Given the description of an element on the screen output the (x, y) to click on. 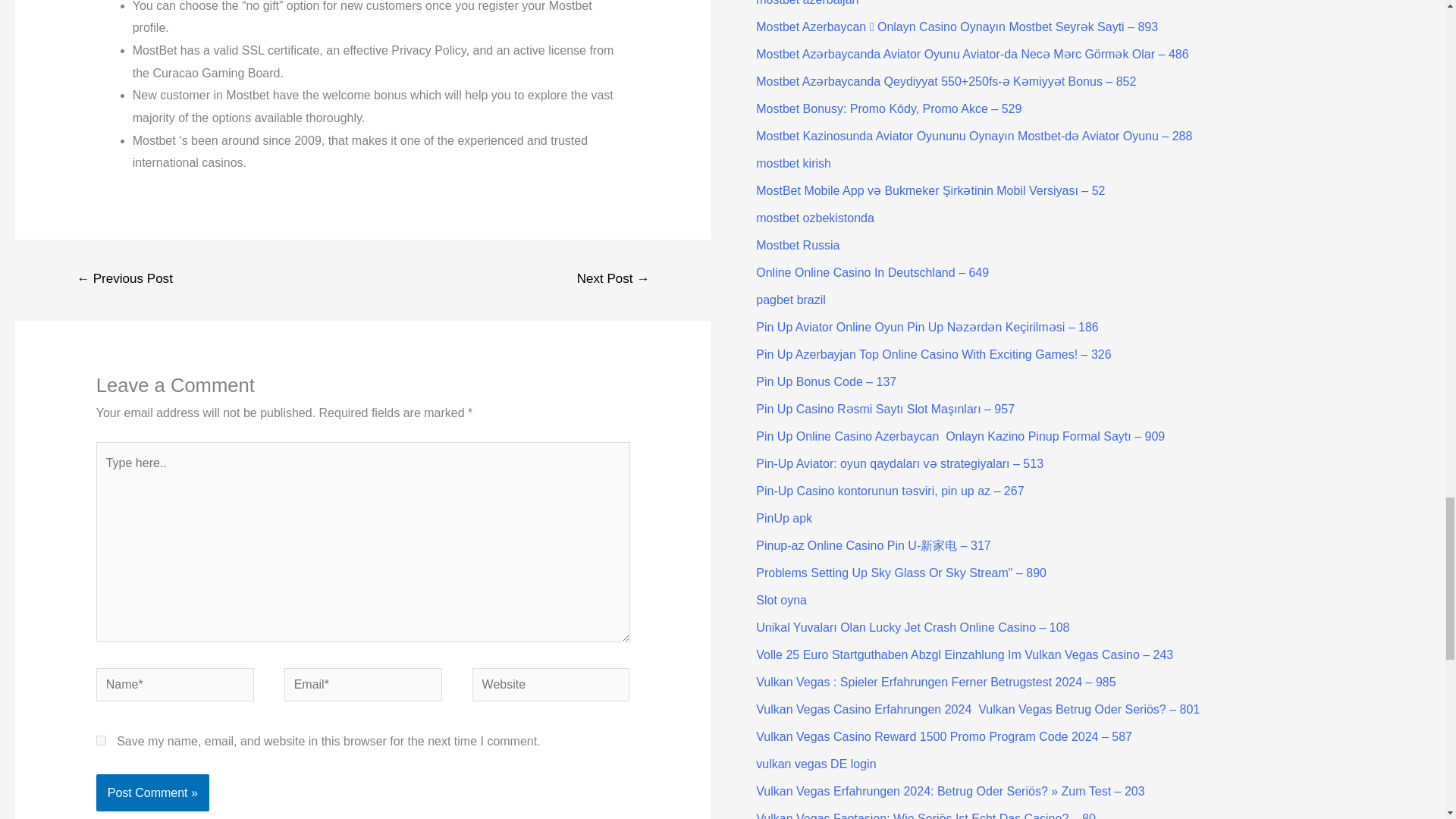
yes (101, 740)
